Given the description of an element on the screen output the (x, y) to click on. 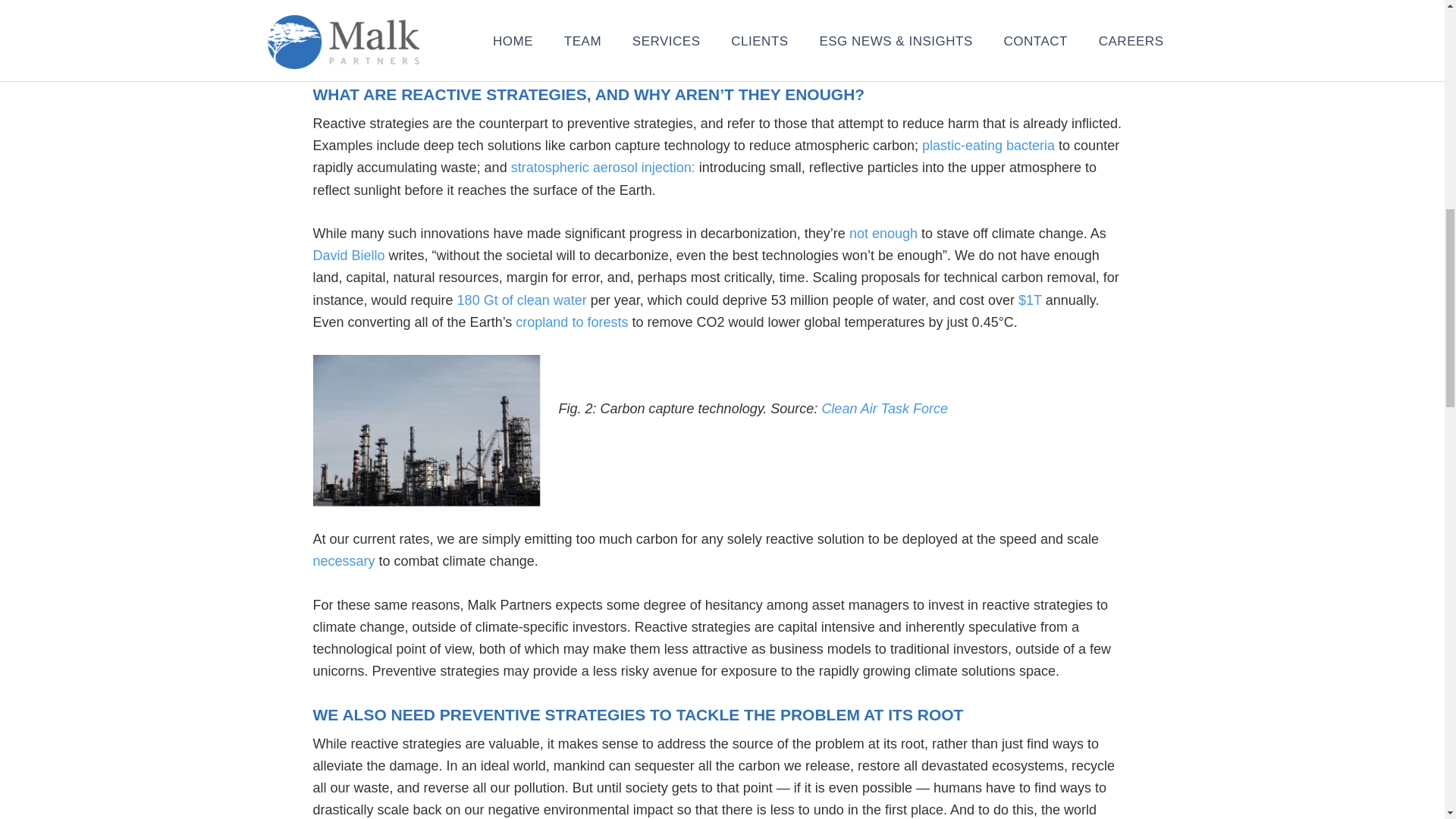
plastic-eating bacteria (987, 145)
stratospheric aerosol injection: (603, 167)
David Biello (348, 255)
not enough (882, 233)
180 Gt of clean water (521, 299)
